Given the description of an element on the screen output the (x, y) to click on. 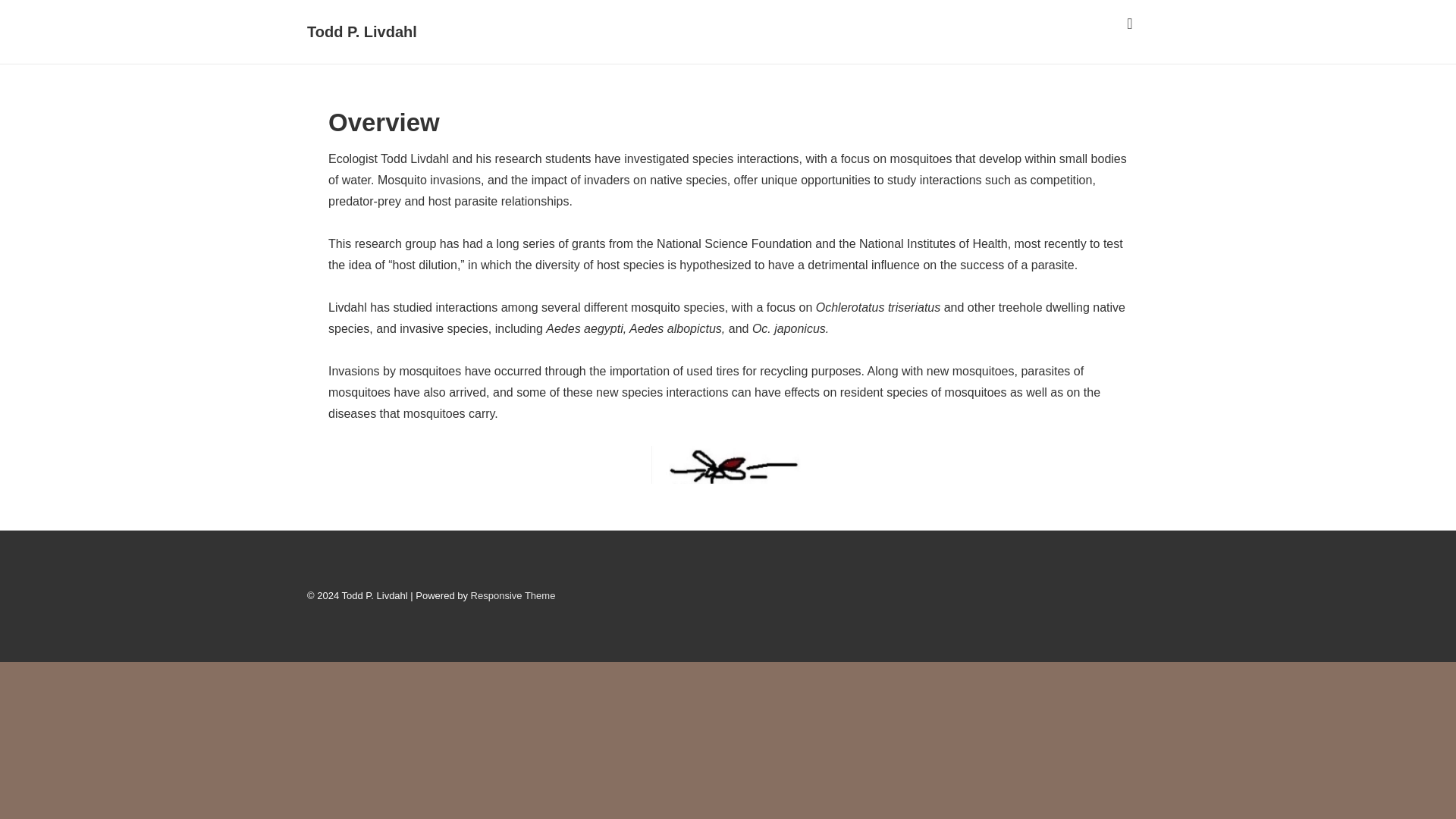
Responsive Theme (513, 595)
Todd P. Livdahl (361, 31)
MENU (1130, 23)
